Given the description of an element on the screen output the (x, y) to click on. 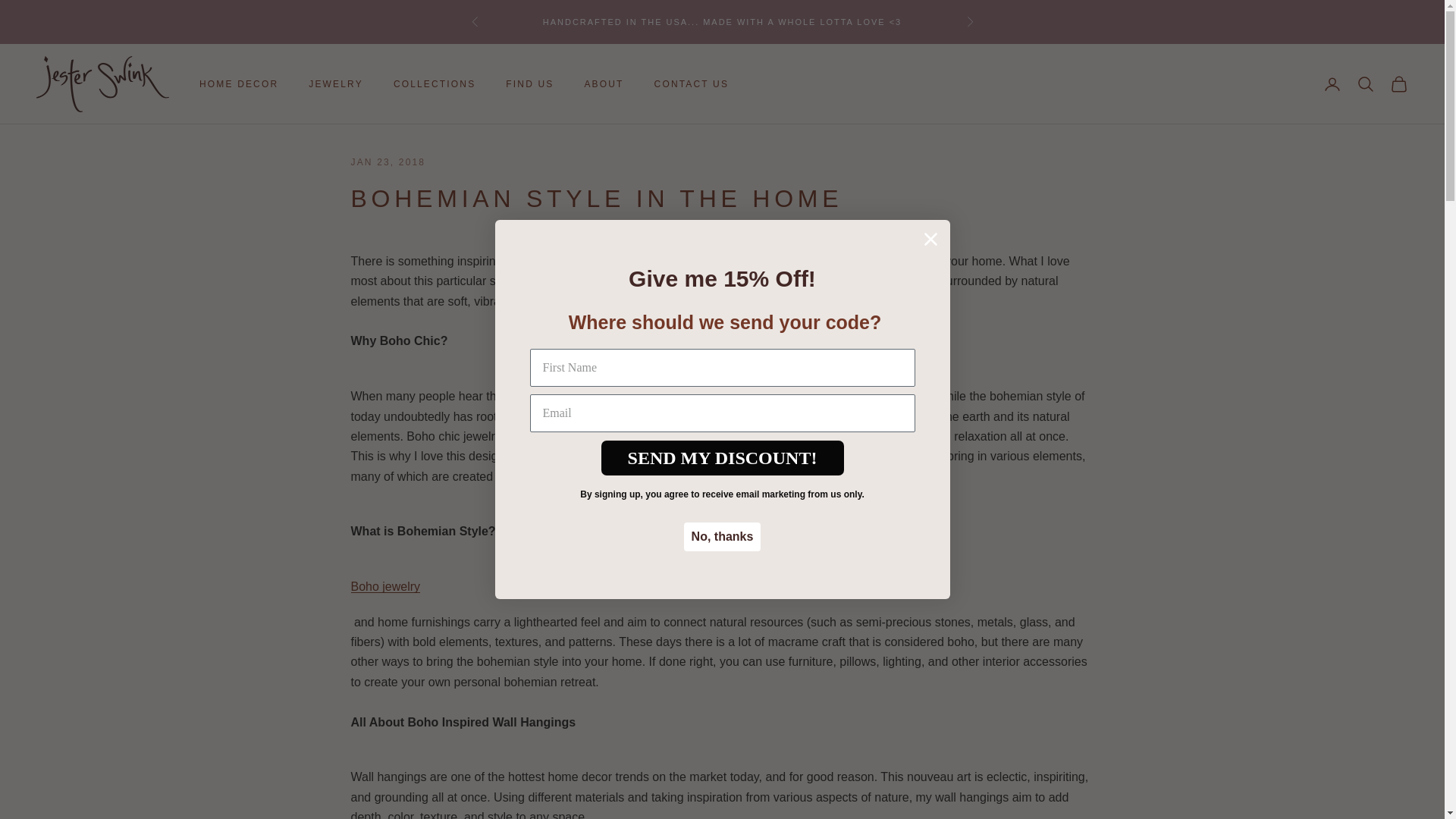
Jester Swink (102, 84)
Open cart (1398, 84)
Open account page (1331, 84)
CONTACT US (691, 83)
Open search (1365, 84)
ABOUT (603, 83)
